Given the description of an element on the screen output the (x, y) to click on. 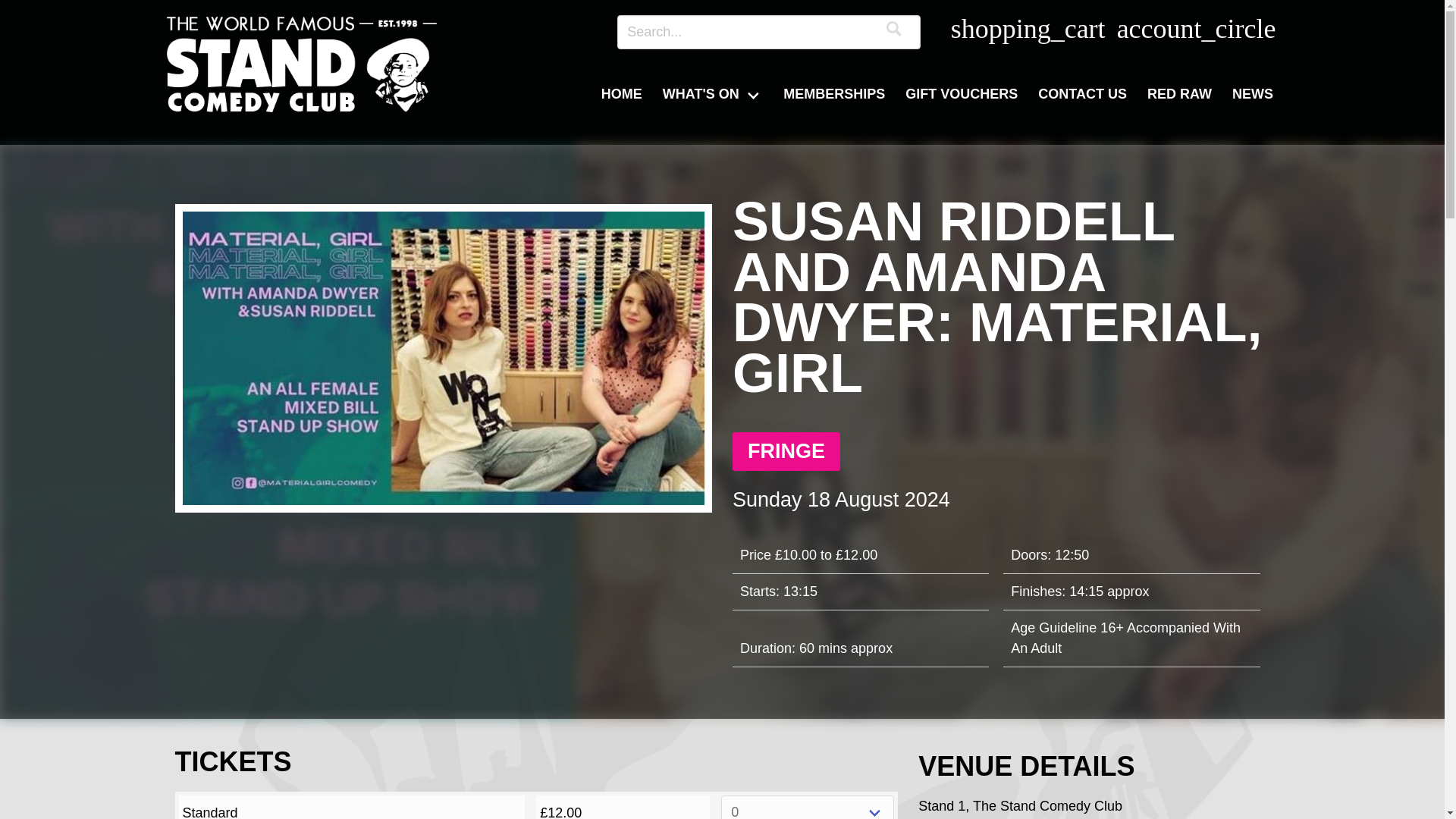
CONTACT US (1082, 94)
Basket (1026, 31)
WHAT'S ON (712, 94)
NEWS (1253, 94)
RED RAW (1180, 94)
Home (300, 65)
Login (1192, 31)
HOME (621, 94)
GIFT VOUCHERS (961, 94)
MEMBERSHIPS (834, 94)
